Given the description of an element on the screen output the (x, y) to click on. 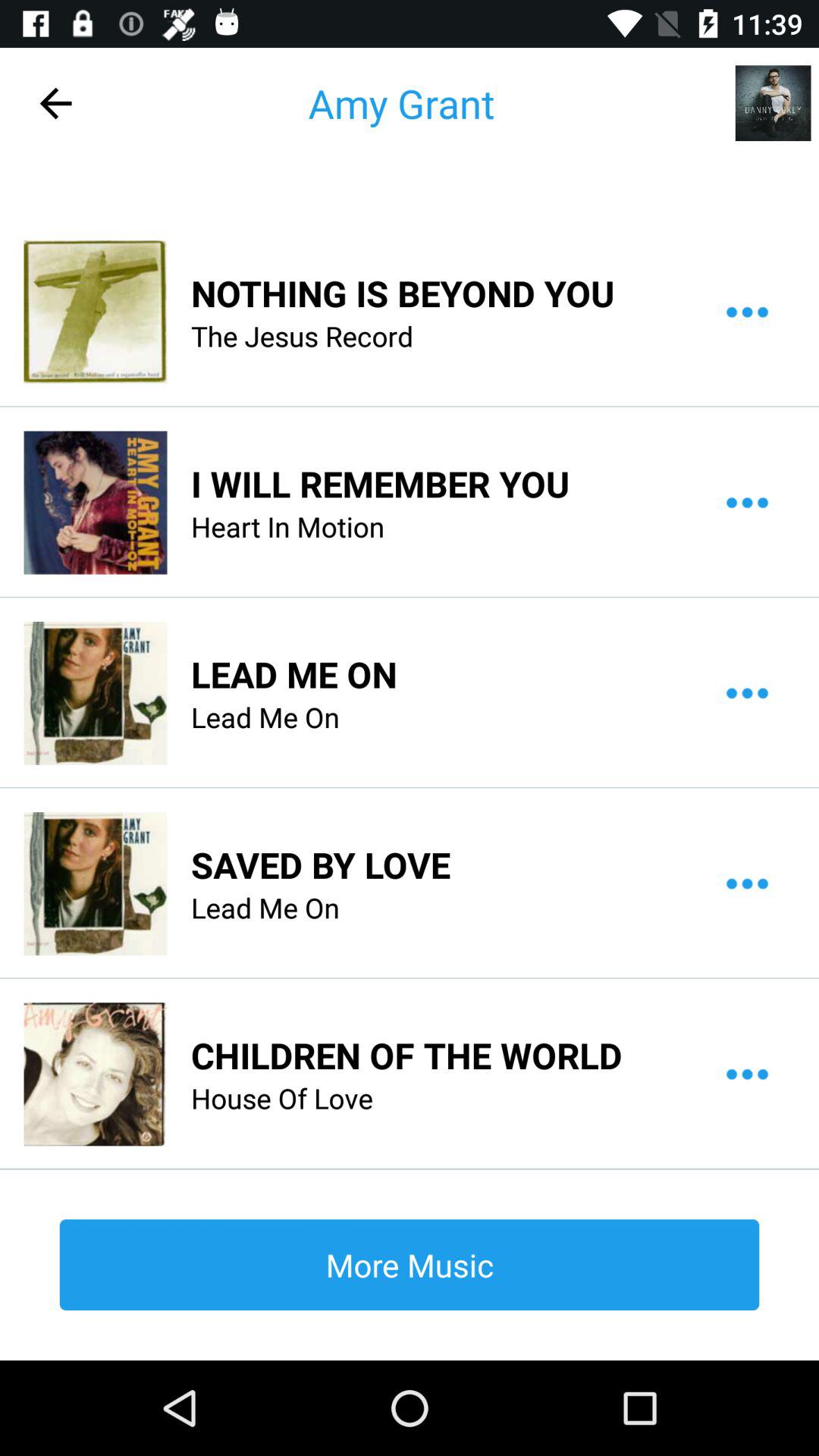
select the icon above the the jesus record (402, 293)
